Given the description of an element on the screen output the (x, y) to click on. 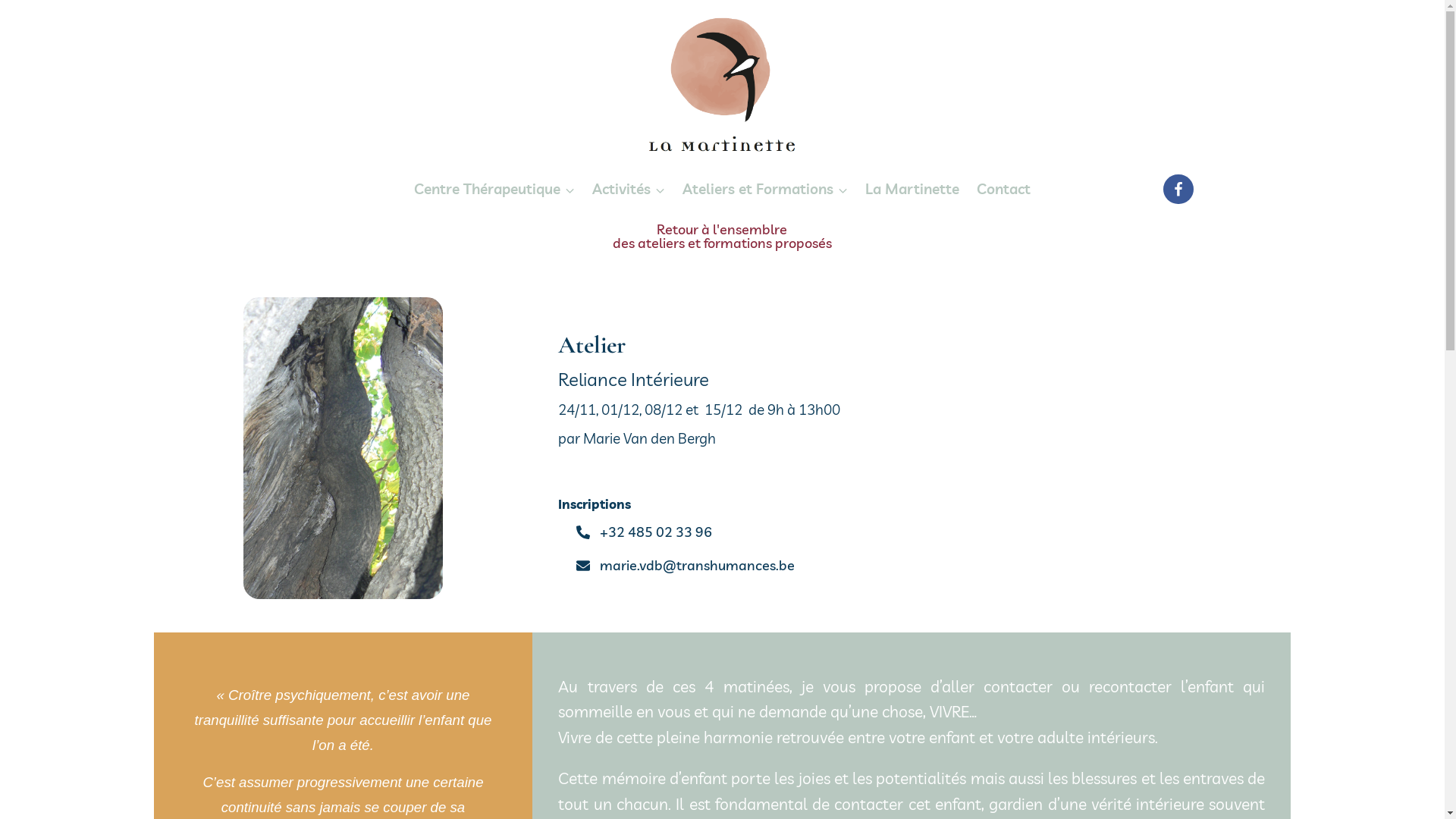
+32 485 02 33 96 Element type: text (644, 533)
marie.vdb@transhumances.be Element type: text (685, 566)
Ateliers et Formations Element type: text (765, 189)
Contact Element type: text (1002, 189)
La Martinette Element type: text (911, 189)
